Given the description of an element on the screen output the (x, y) to click on. 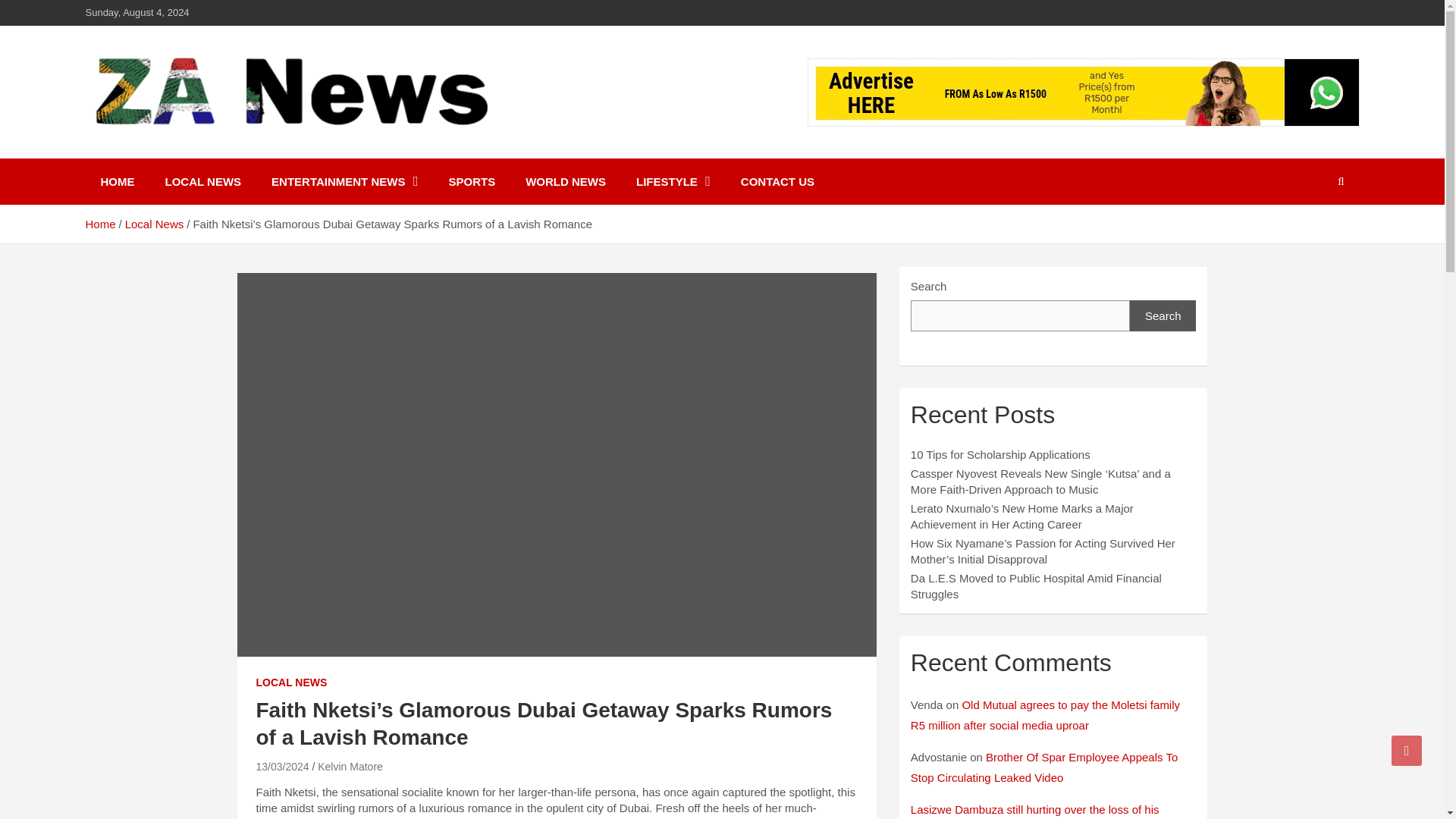
ZA News Online (199, 154)
LIFESTYLE (673, 181)
ENTERTAINMENT NEWS (344, 181)
WORLD NEWS (566, 181)
Search (1162, 315)
SPORTS (471, 181)
LOCAL NEWS (203, 181)
LOCAL NEWS (291, 683)
Go to Top (1406, 750)
Home (99, 223)
Kelvin Matore (349, 766)
Da L.E.S Moved to Public Hospital Amid Financial Struggles (1036, 585)
